Given the description of an element on the screen output the (x, y) to click on. 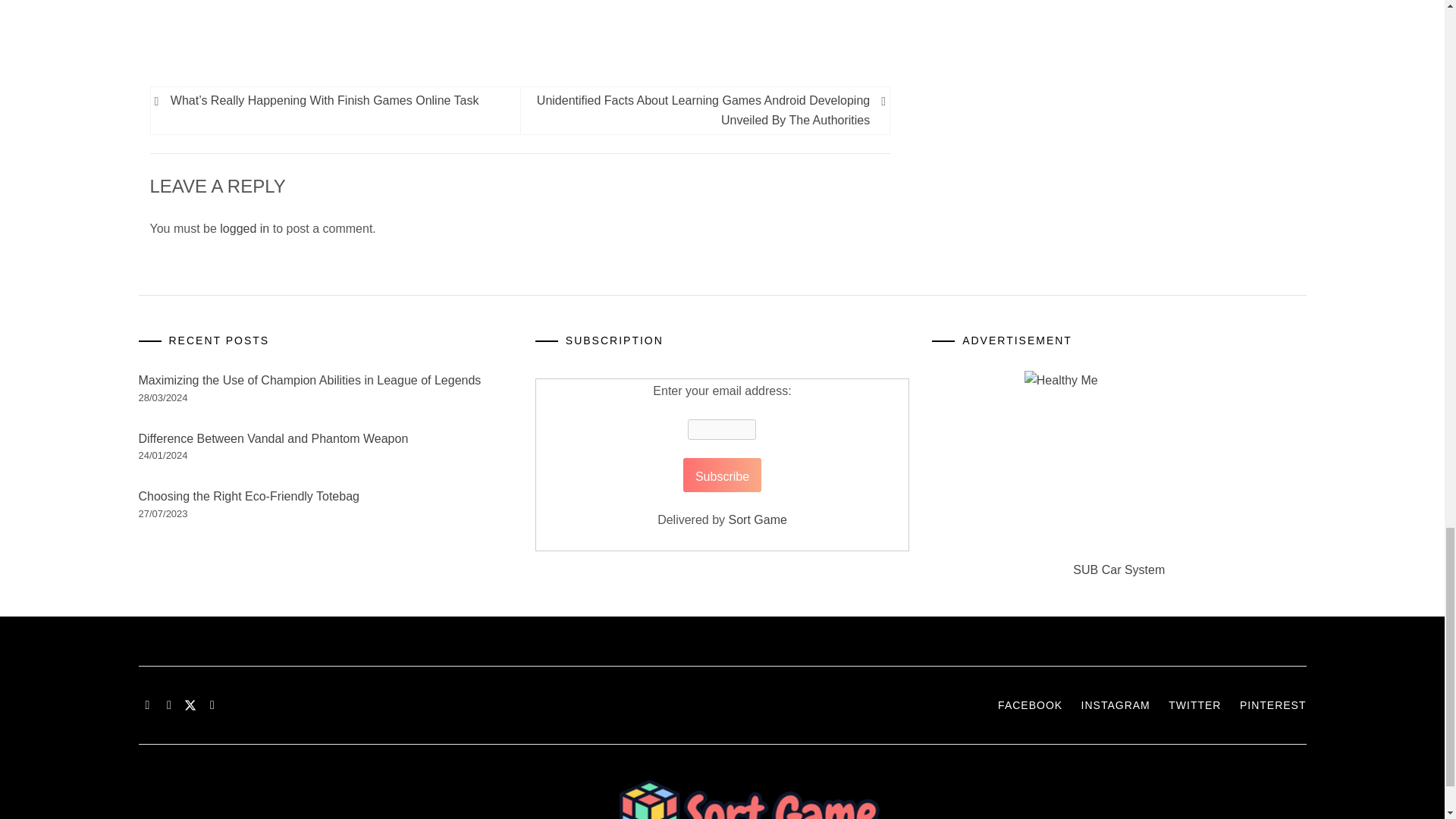
Healthy Me (1119, 465)
logged in (244, 228)
Subscribe (721, 474)
